Given the description of an element on the screen output the (x, y) to click on. 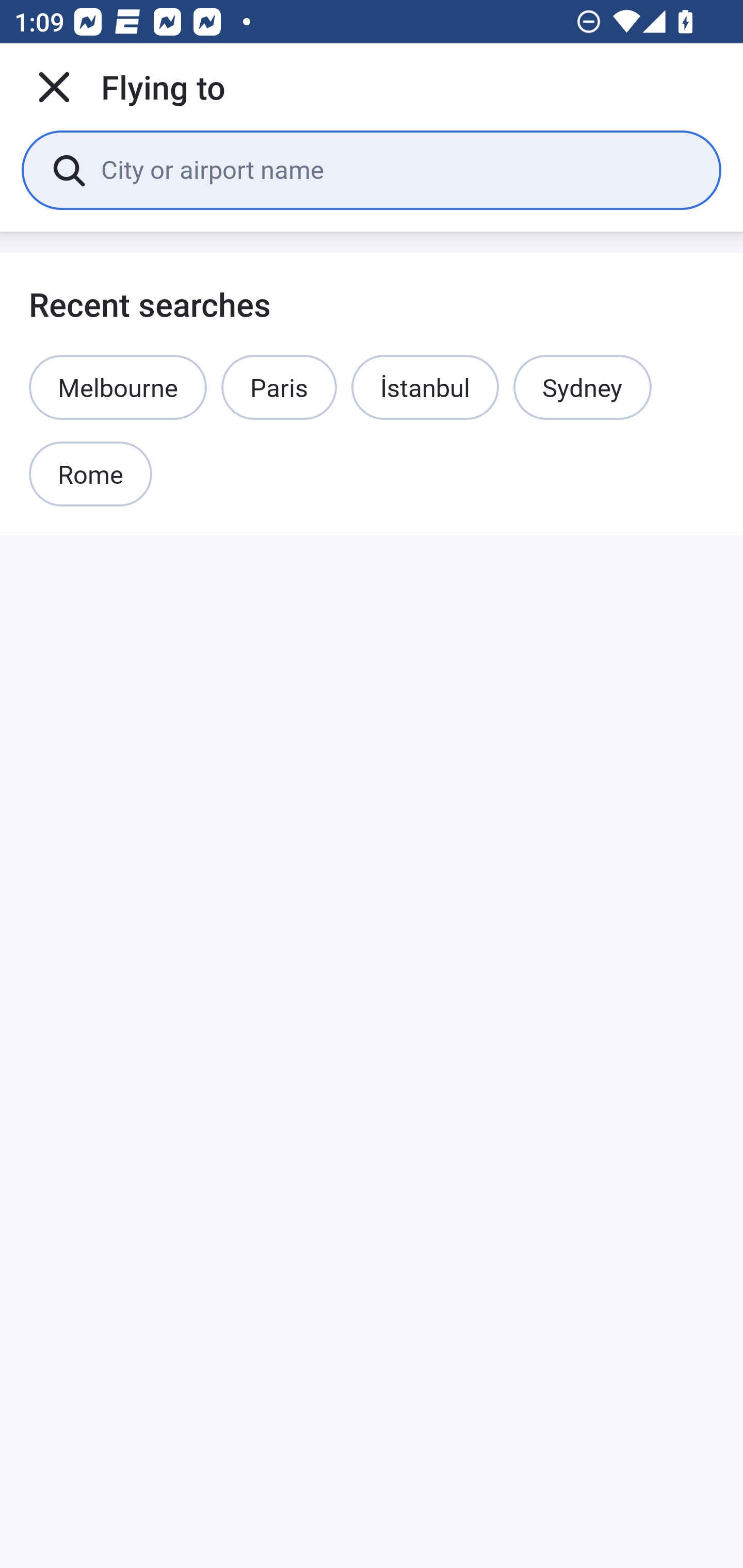
City or airport name (396, 169)
Melbourne (117, 387)
Paris (278, 387)
İstanbul (425, 387)
Sydney (582, 387)
Rome (90, 474)
